Given the description of an element on the screen output the (x, y) to click on. 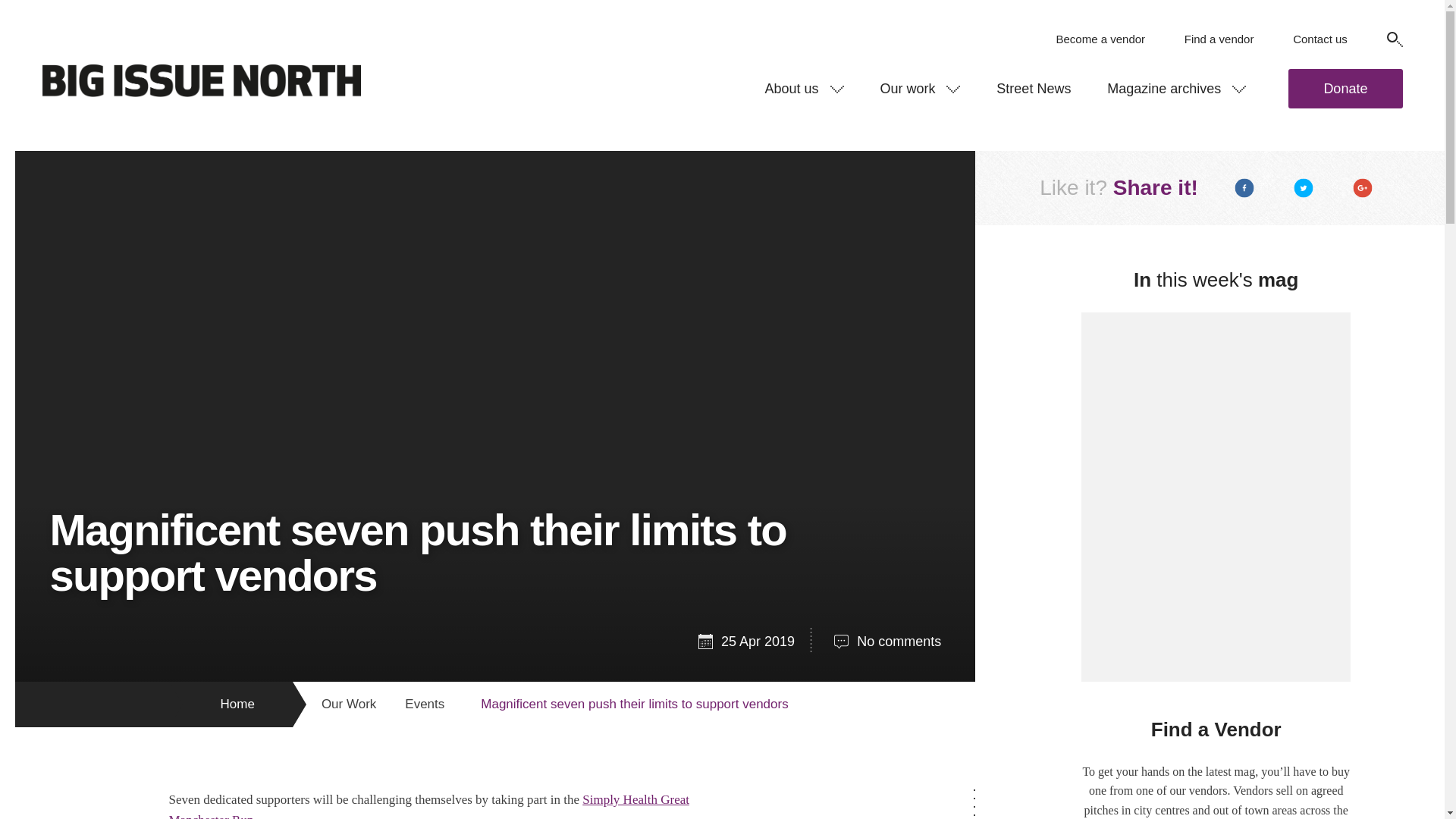
Our work (919, 88)
Contact us (1320, 38)
Find a vendor (1219, 38)
Share on Twitter (1303, 187)
Donate with JustGiving (1345, 88)
Search Big Issue North (1394, 38)
Share on Google Plus (1362, 187)
Become a vendor (1099, 38)
About us (803, 88)
Share on Facebook (1244, 187)
